Given the description of an element on the screen output the (x, y) to click on. 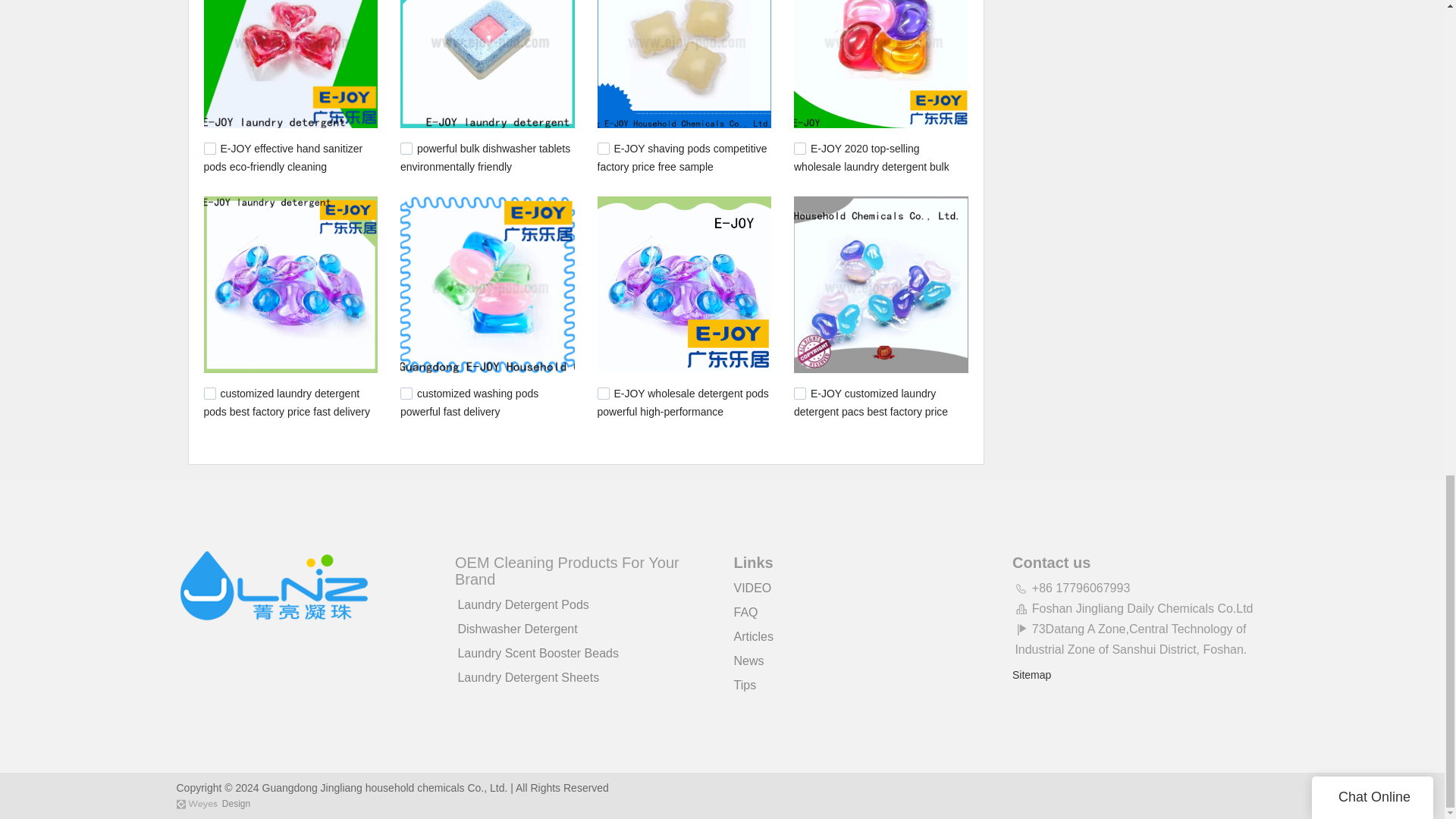
2558 (799, 148)
2683 (406, 148)
2457 (603, 393)
E-JOY effective hand sanitizer pods eco-friendly cleaning (282, 157)
2701 (209, 148)
customized washing pods powerful fast delivery (469, 402)
973 (799, 393)
E-JOY wholesale detergent pods powerful high-performance (682, 402)
2625 (603, 148)
2505 (406, 393)
2520 (209, 393)
